Given the description of an element on the screen output the (x, y) to click on. 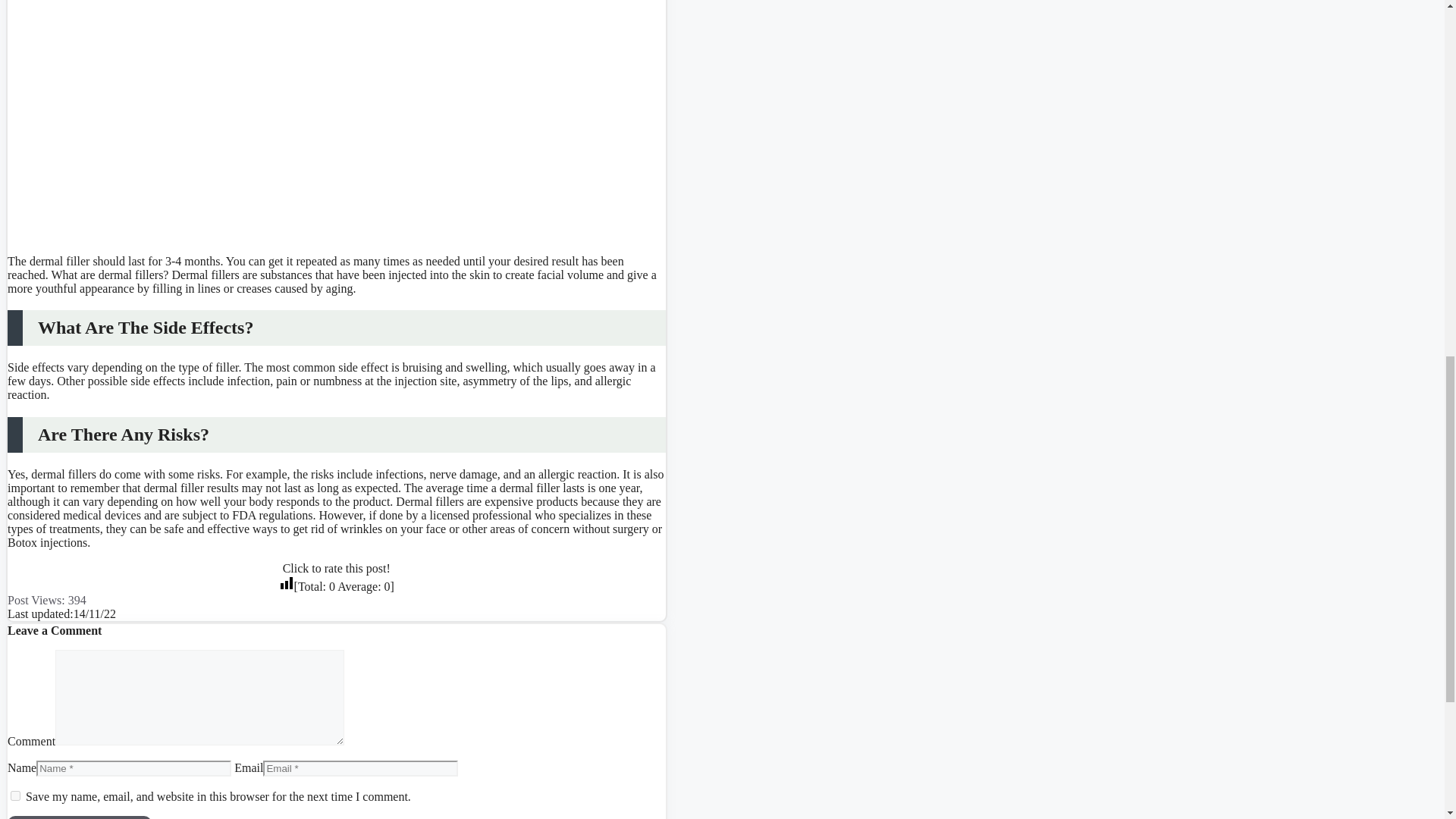
Scroll back to top (1406, 720)
Post Comment (79, 817)
yes (15, 795)
dermal-fillers (202, 119)
Post Comment (79, 817)
